Given the description of an element on the screen output the (x, y) to click on. 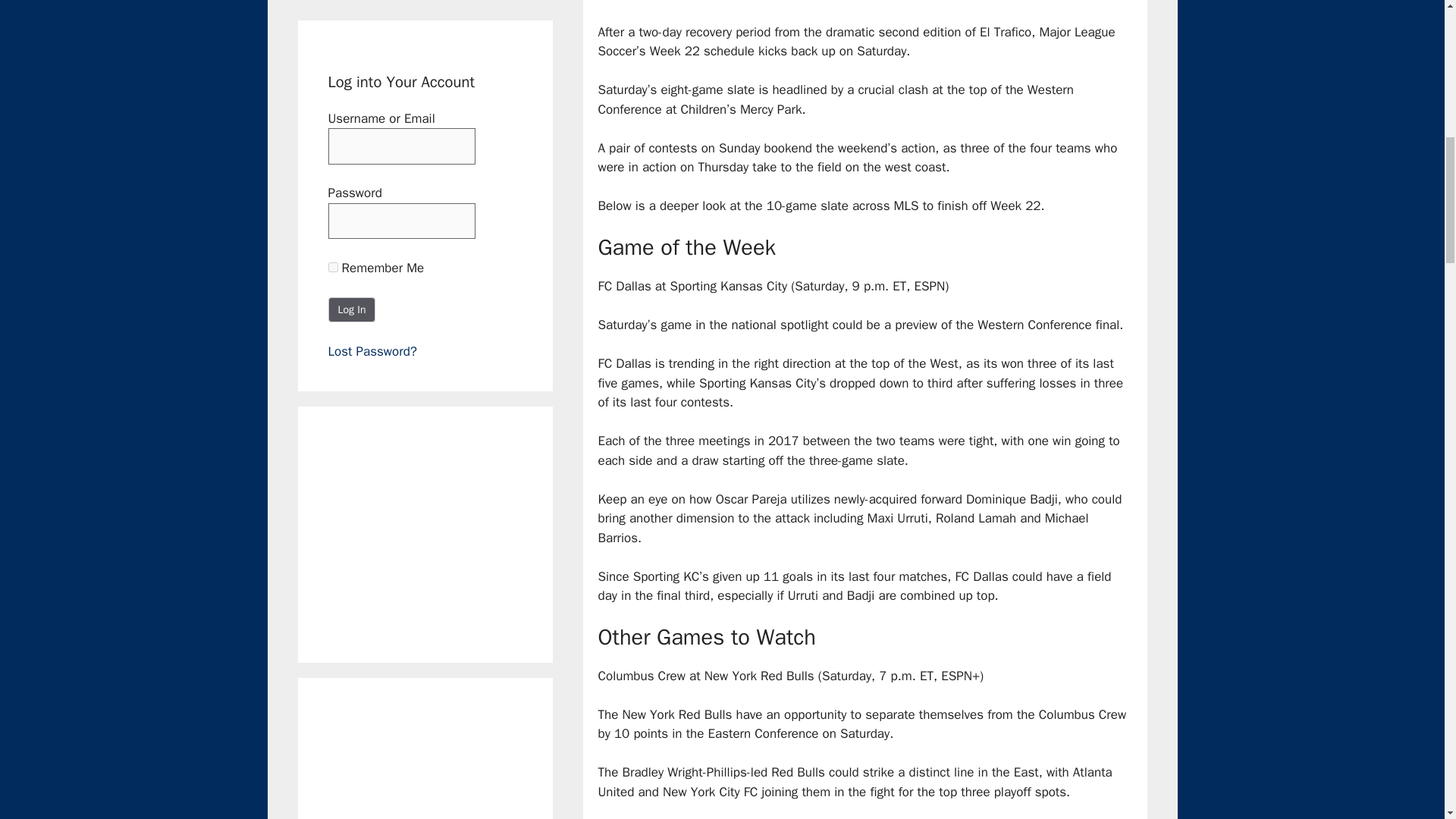
Log In (351, 309)
Advertisement (440, 531)
Advertisement (440, 763)
forever (332, 266)
